Given the description of an element on the screen output the (x, y) to click on. 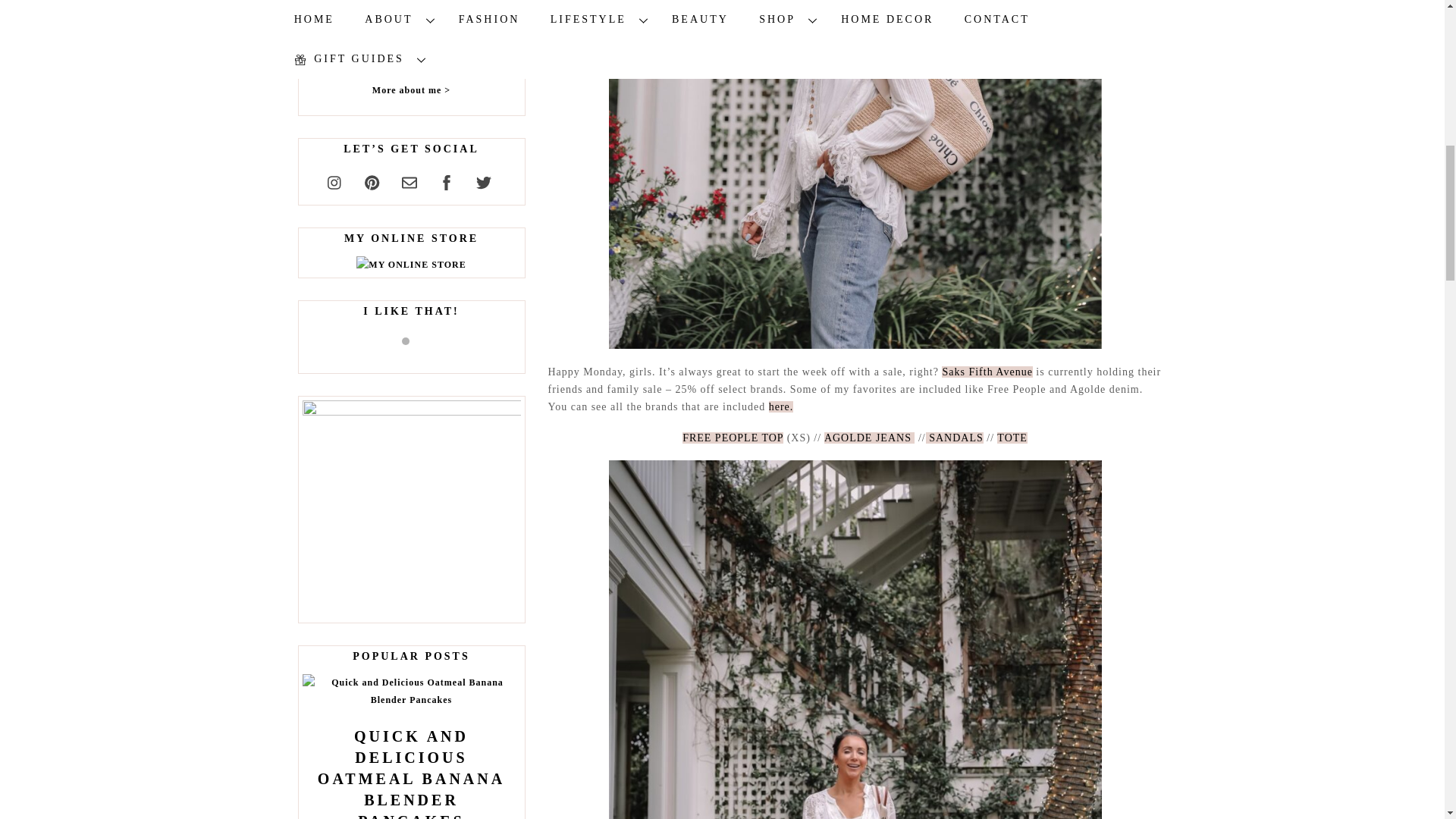
AGOLDE JEANS  (869, 437)
SANDALS (955, 437)
Saks Fifth Avenue (987, 371)
MY ONLINE STORE (410, 264)
here. (780, 406)
FREE PEOPLE TOP (732, 437)
TOTE (1012, 437)
